Given the description of an element on the screen output the (x, y) to click on. 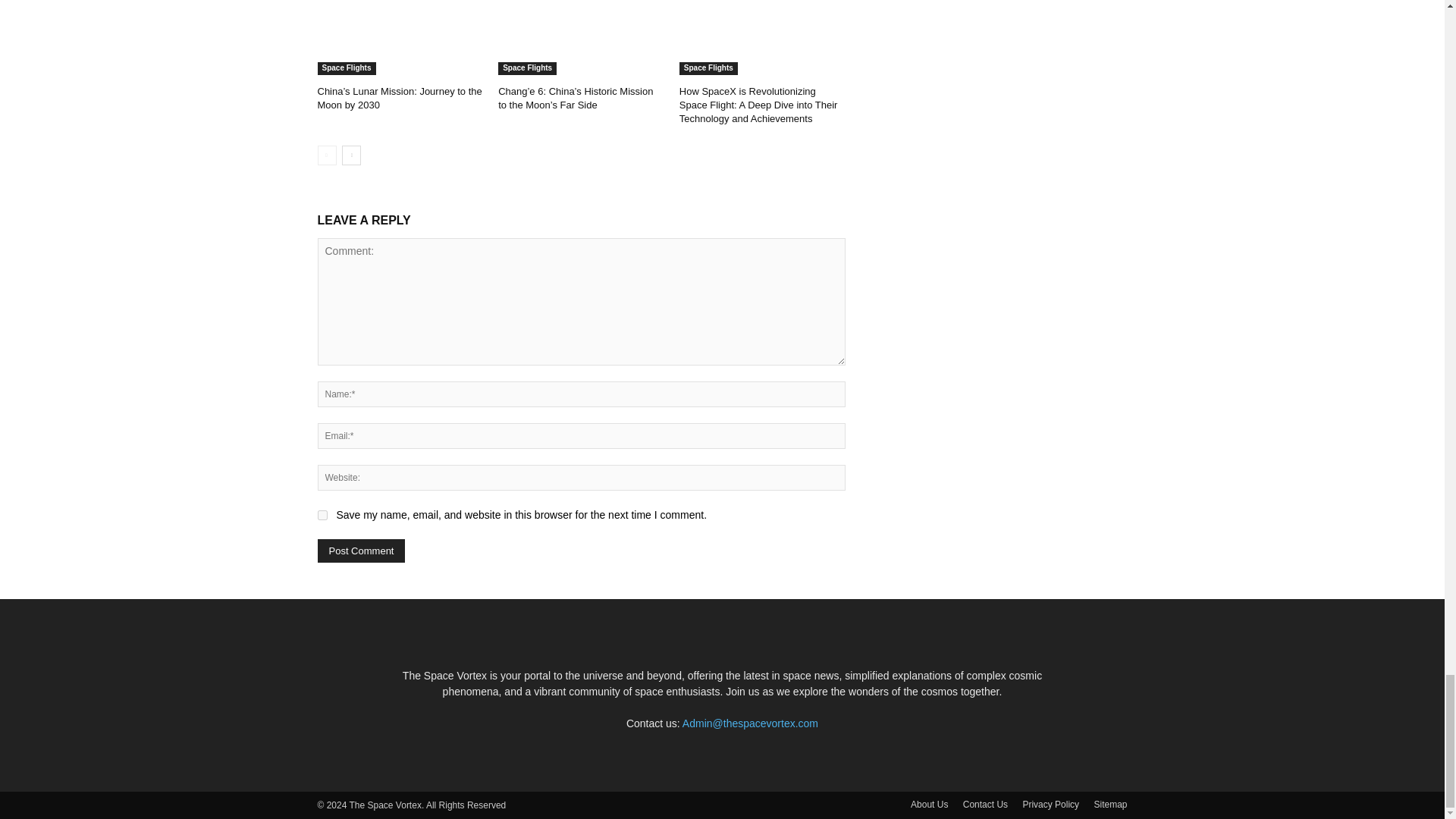
Post Comment (360, 550)
yes (321, 515)
